Given the description of an element on the screen output the (x, y) to click on. 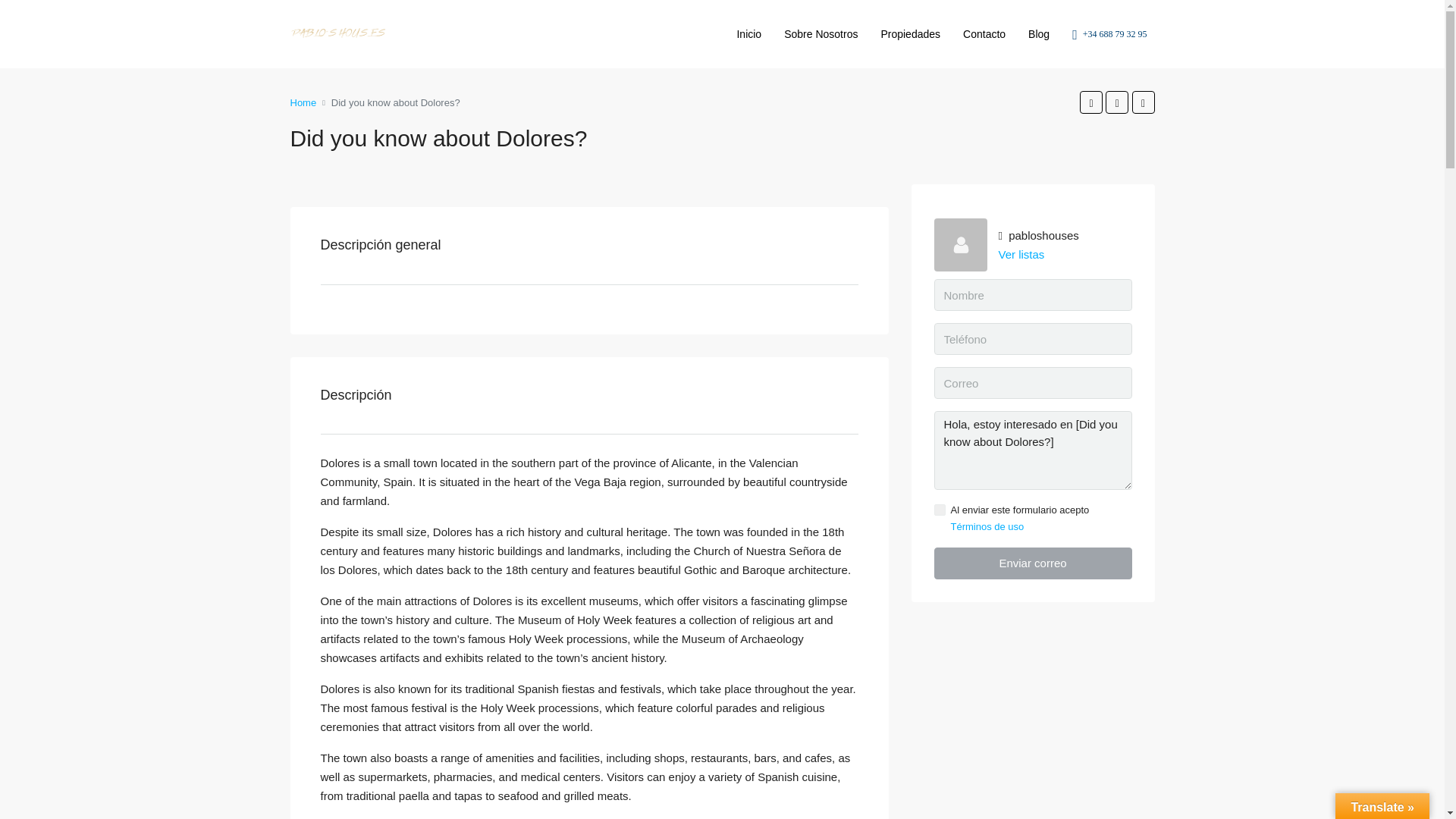
Sobre Nosotros (821, 33)
Contacto (984, 33)
Propiedades (910, 33)
Home (302, 101)
